Given the description of an element on the screen output the (x, y) to click on. 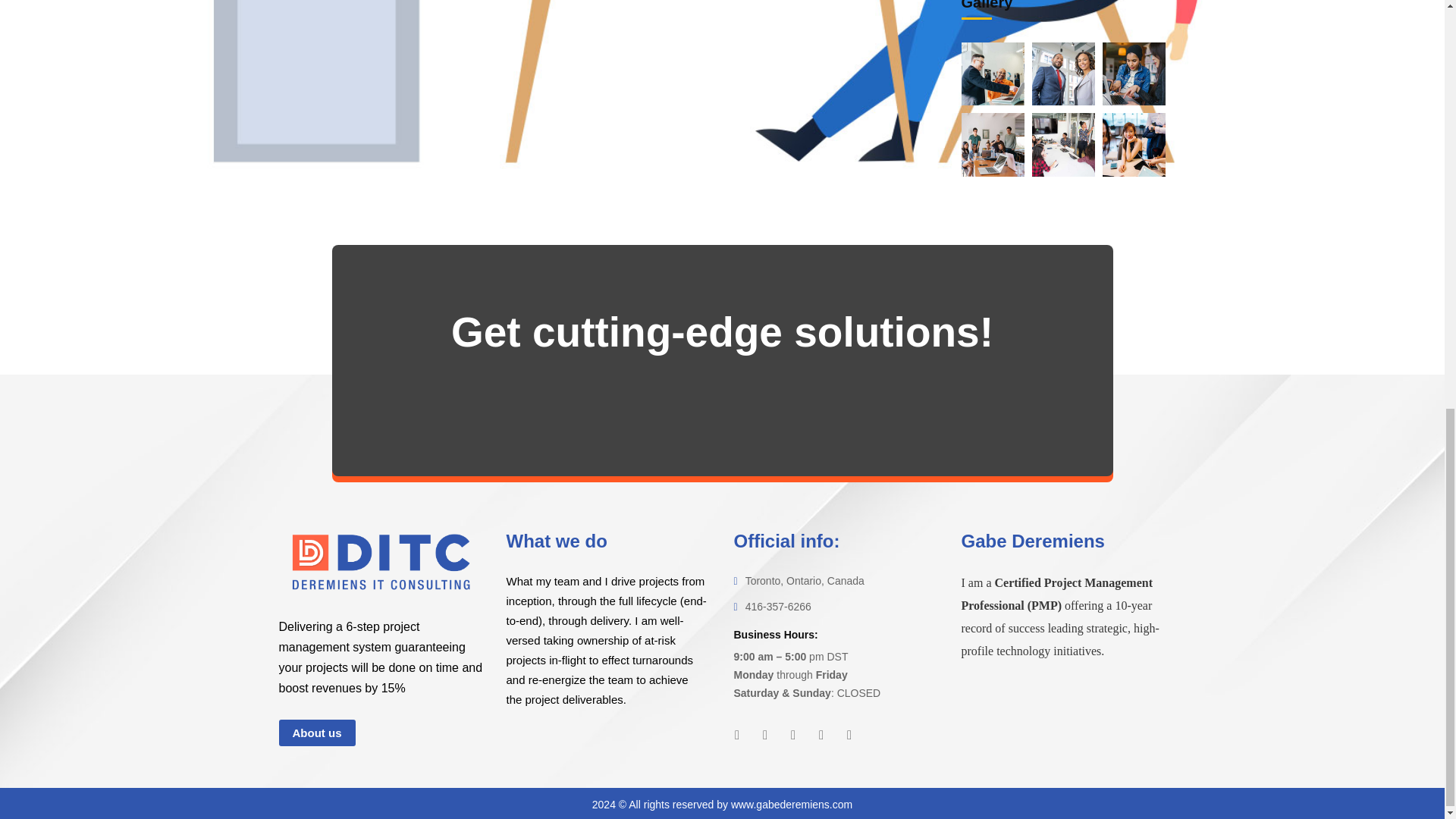
About us (317, 732)
www.gabederemiens.com (790, 804)
